Given the description of an element on the screen output the (x, y) to click on. 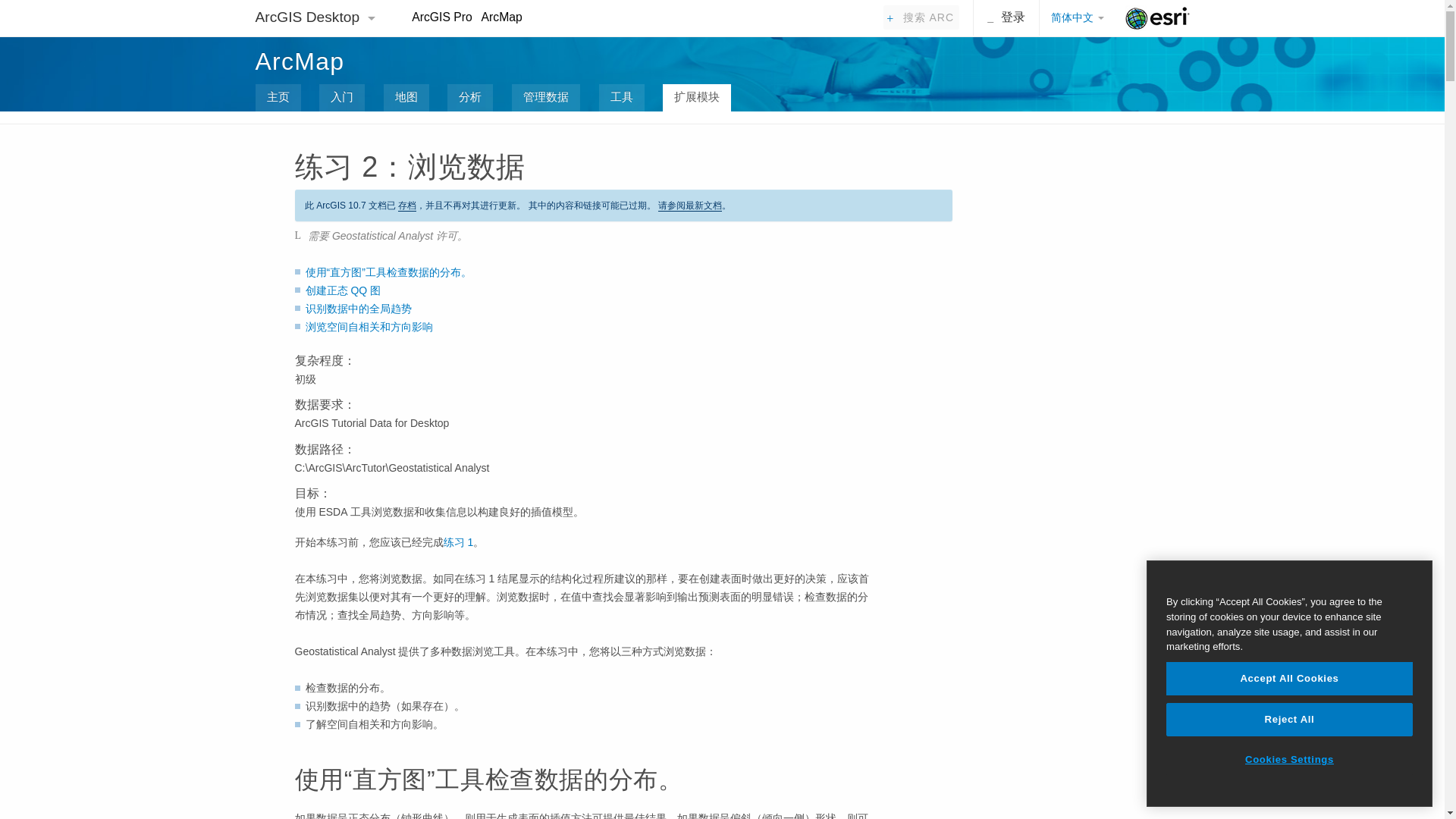
ArcMap (298, 61)
ArcGIS Pro (441, 16)
ArcGIS Desktop (308, 17)
ArcMap (501, 16)
Esri (1157, 18)
